Given the description of an element on the screen output the (x, y) to click on. 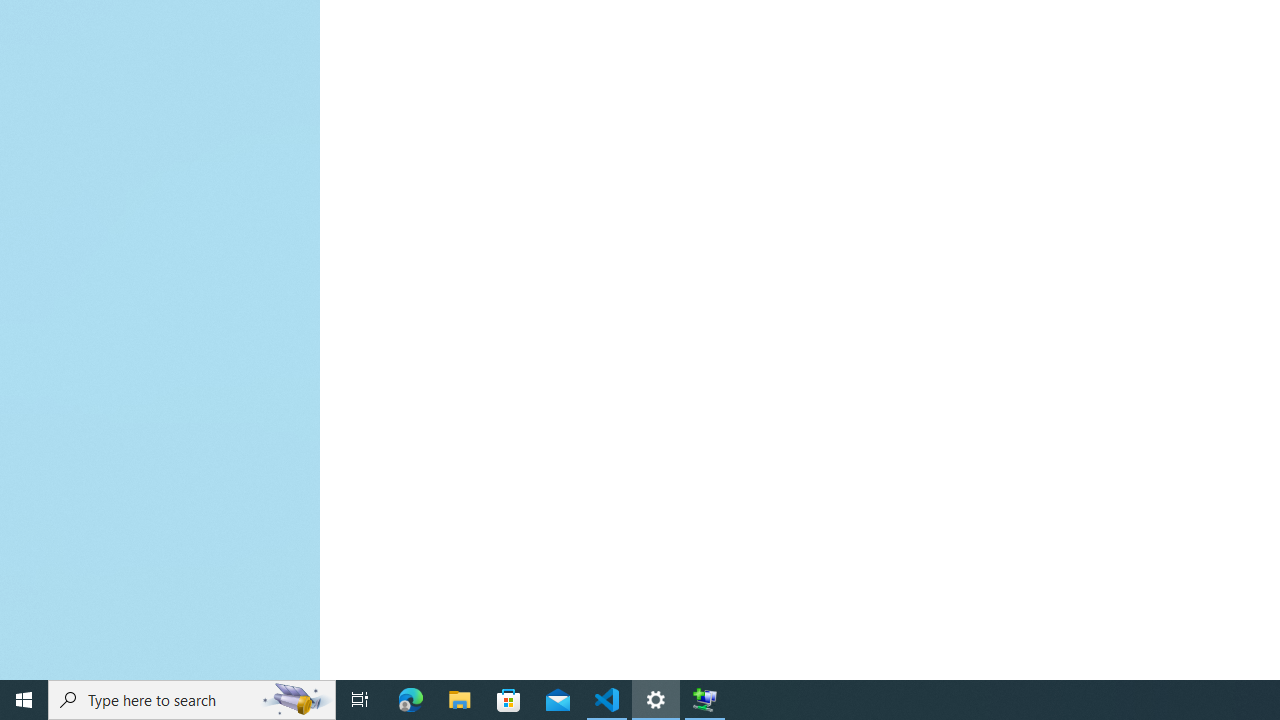
Settings - 1 running window (656, 699)
Extensible Wizards Host Process - 1 running window (704, 699)
